Given the description of an element on the screen output the (x, y) to click on. 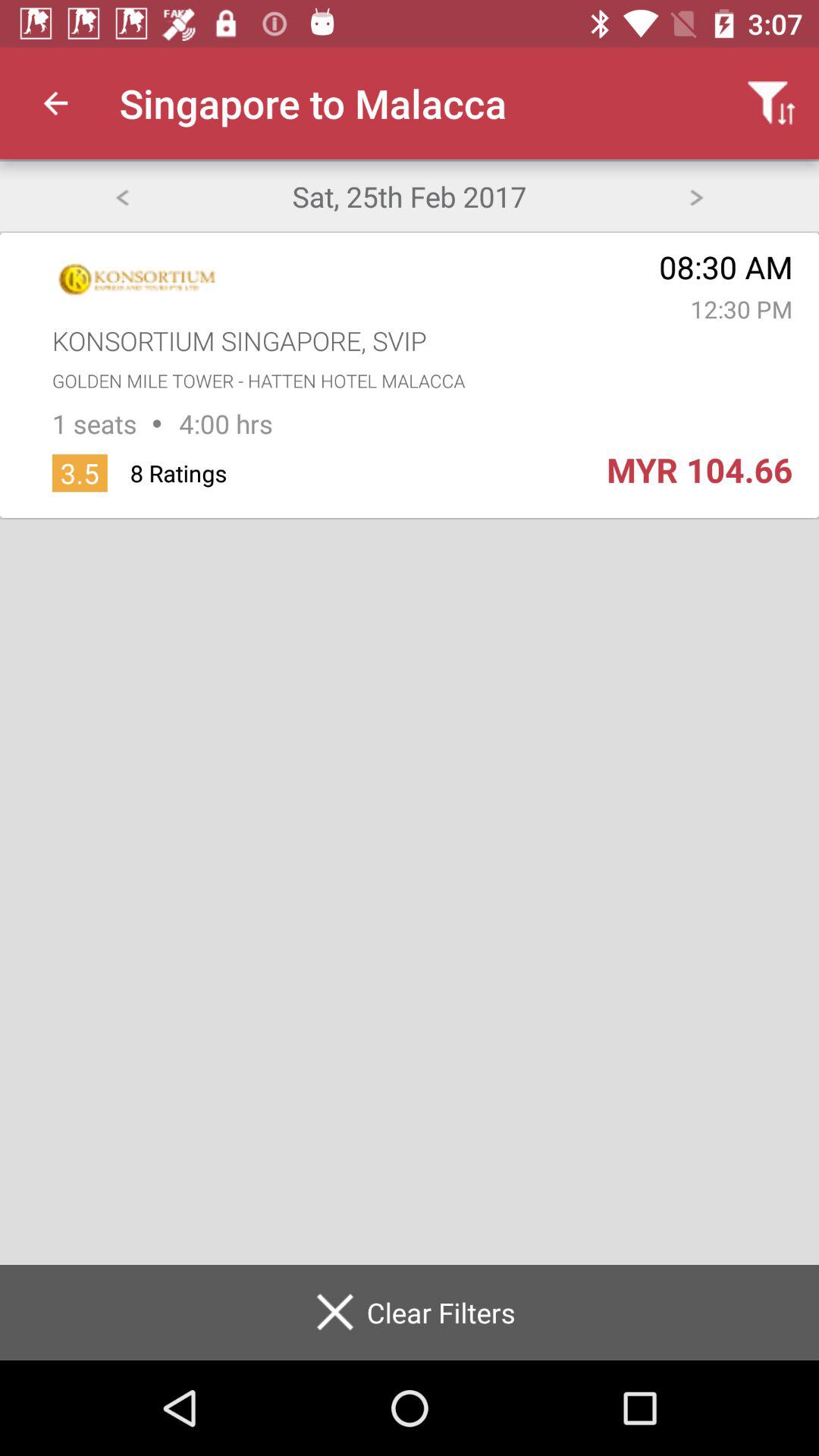
go to next date (696, 196)
